Given the description of an element on the screen output the (x, y) to click on. 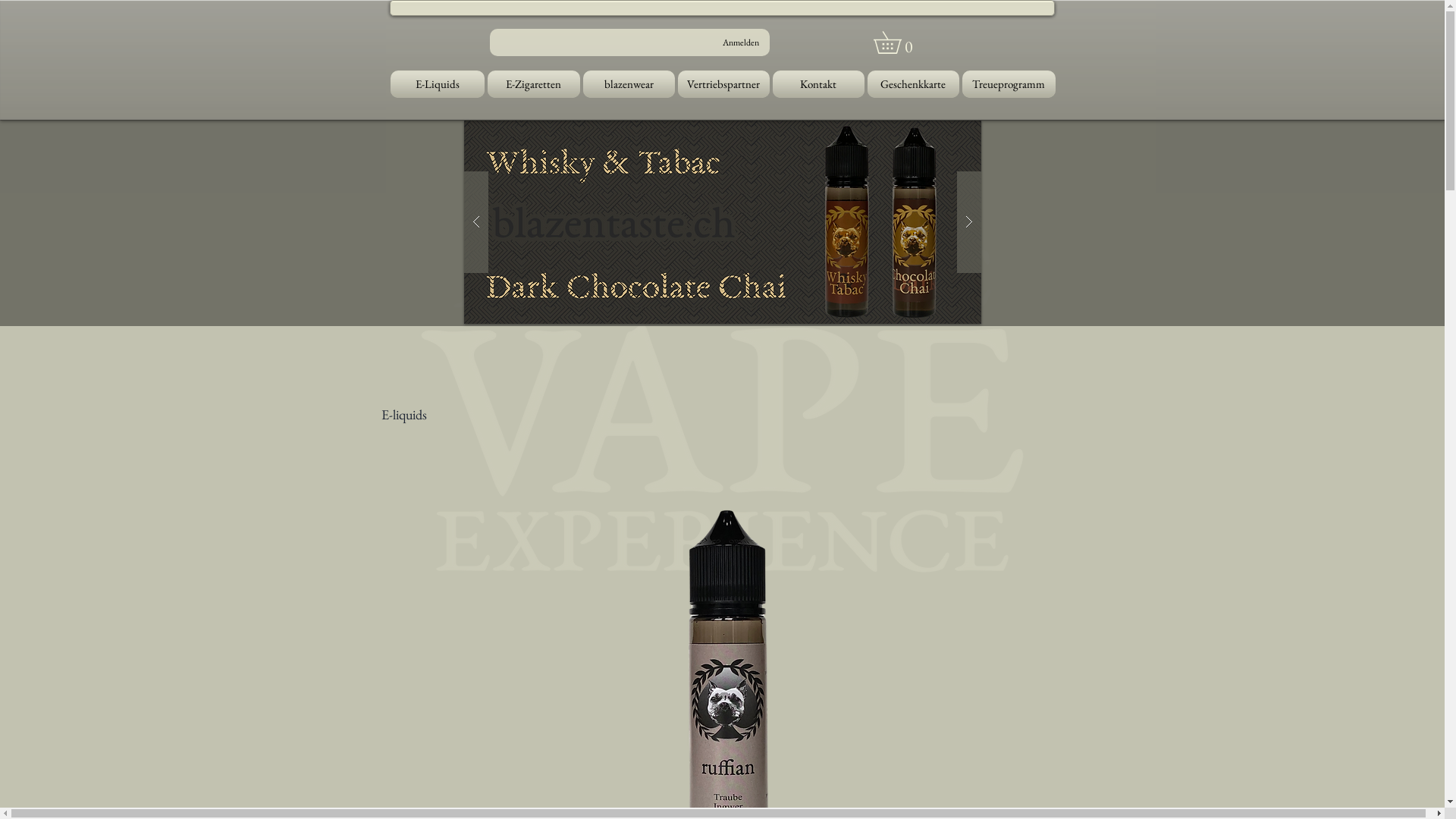
E-liquids Element type: text (403, 414)
Anmelden Element type: text (739, 42)
Treueprogramm Element type: text (1007, 83)
E-Zigaretten Element type: text (532, 83)
Geschenkkarte Element type: text (913, 83)
blazenwear Element type: text (627, 83)
0 Element type: text (897, 42)
Vertriebspartner Element type: text (723, 83)
Kontakt Element type: text (817, 83)
E-Liquids Element type: text (437, 83)
